Given the description of an element on the screen output the (x, y) to click on. 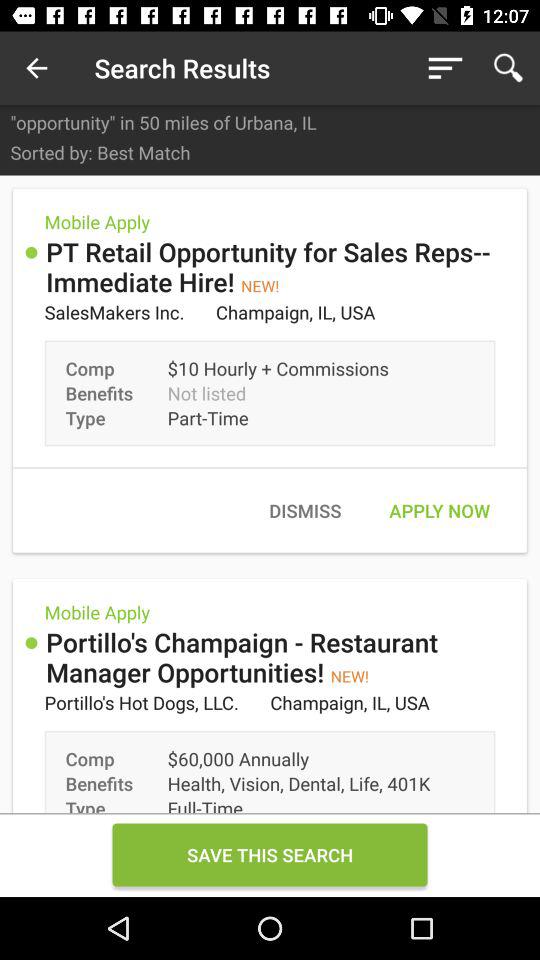
flip until the save this search (269, 854)
